Given the description of an element on the screen output the (x, y) to click on. 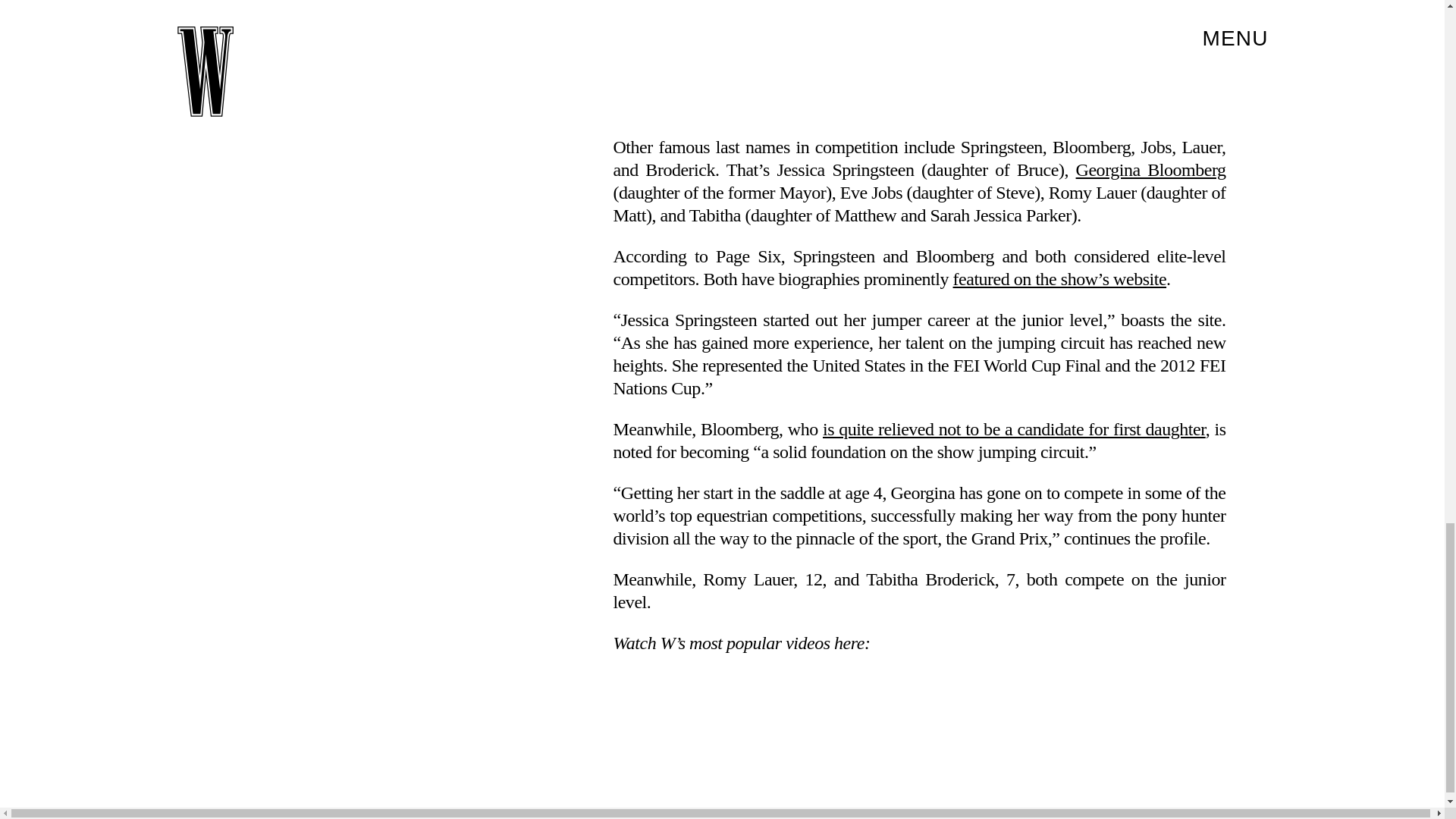
Georgina Bloomberg (1150, 169)
is quite relieved not to be a candidate for first daughter (1013, 428)
